Given the description of an element on the screen output the (x, y) to click on. 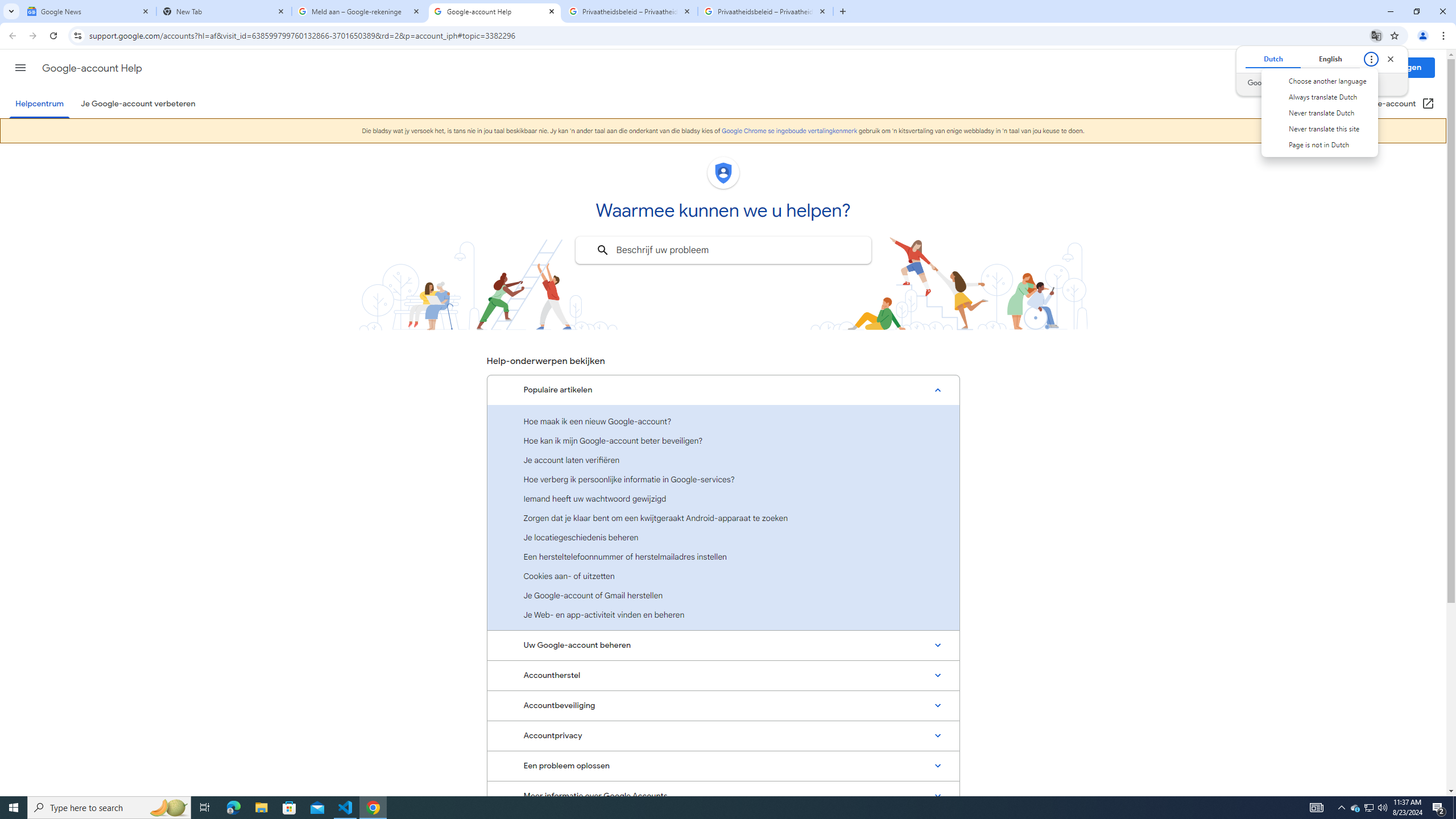
Accountherstel (1355, 807)
Cookies aan- of uitzetten (722, 675)
Google-account Help (722, 575)
Je locatiegeschiedenis beheren (494, 11)
Microsoft Edge (722, 537)
Translate this page (233, 807)
Task View (1376, 35)
Q2790: 100% (204, 807)
Accountprivacy (1382, 807)
User Promoted Notification Area (722, 736)
